Given the description of an element on the screen output the (x, y) to click on. 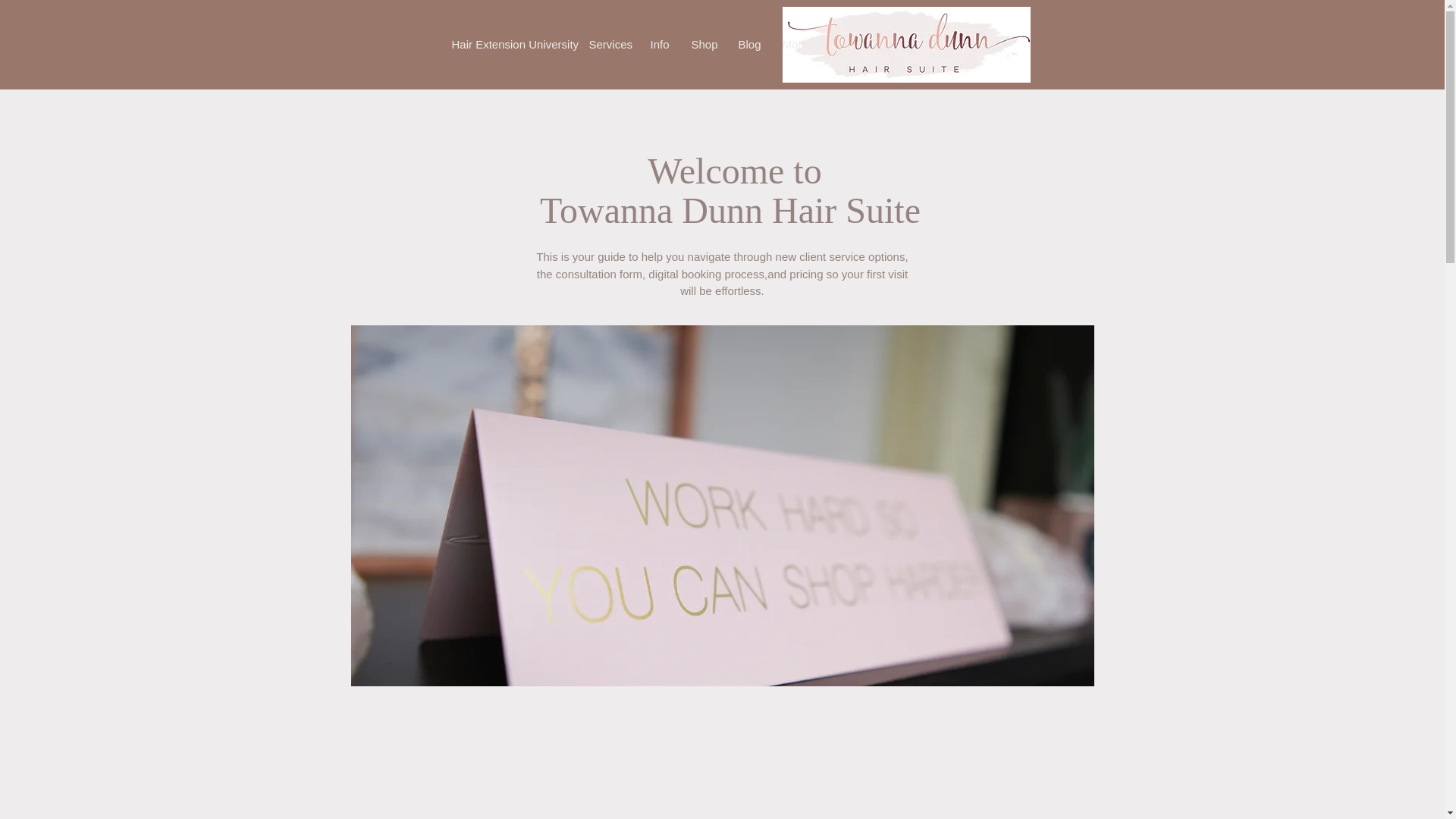
Blog (748, 43)
Hair Extension University (507, 43)
Shop (702, 43)
Info (659, 43)
Services (608, 43)
